Given the description of an element on the screen output the (x, y) to click on. 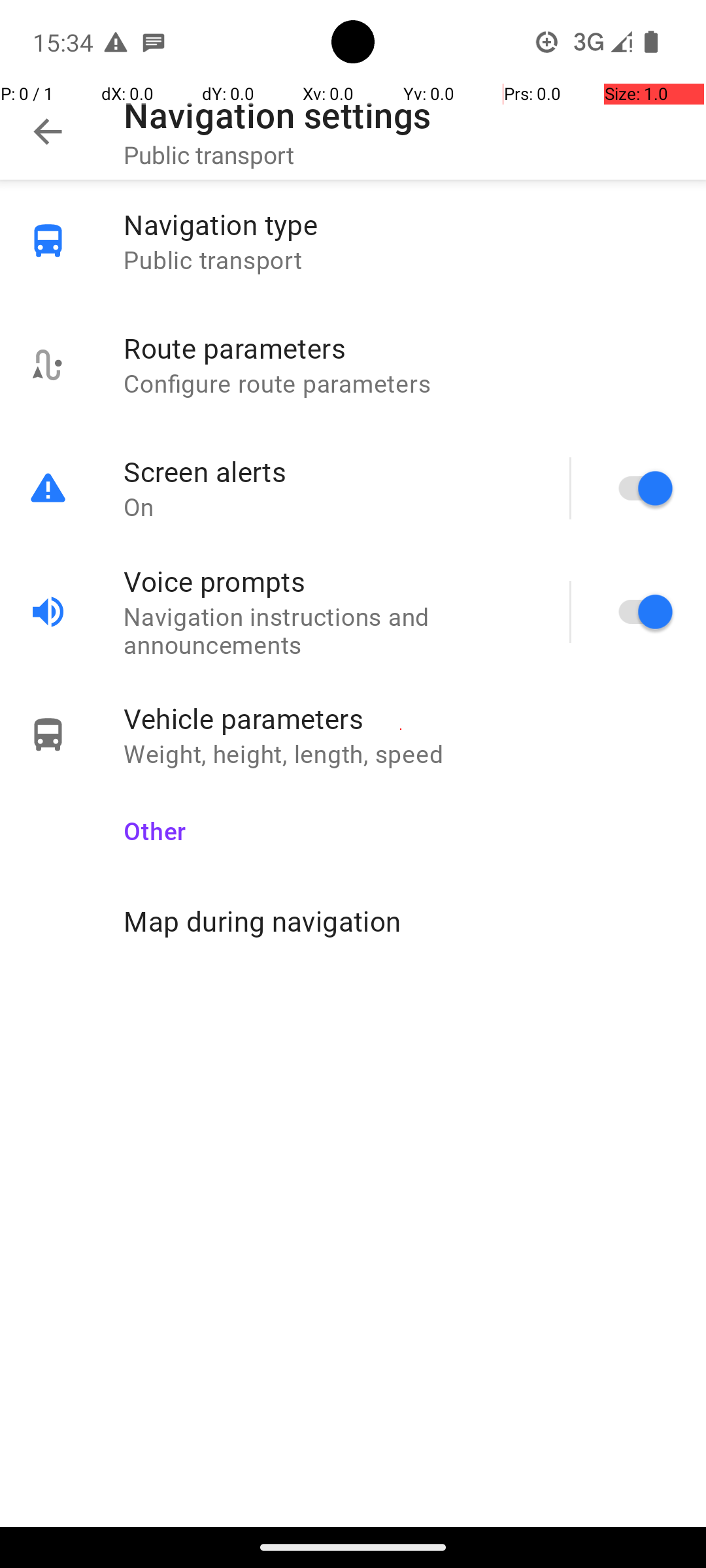
Navigation settings Element type: android.widget.TextView (277, 114)
Navigation type Element type: android.widget.TextView (400, 224)
Route parameters Element type: android.widget.TextView (400, 347)
Configure route parameters Element type: android.widget.TextView (400, 382)
Screen alerts Element type: android.widget.TextView (332, 471)
On Element type: android.widget.TextView (332, 506)
Voice prompts Element type: android.widget.TextView (332, 580)
Navigation instructions and announcements Element type: android.widget.TextView (332, 630)
Vehicle parameters Element type: android.widget.TextView (400, 717)
Weight, height, length, speed Element type: android.widget.TextView (400, 753)
Other Element type: android.widget.TextView (400, 822)
Map during navigation Element type: android.widget.TextView (400, 920)
